Given the description of an element on the screen output the (x, y) to click on. 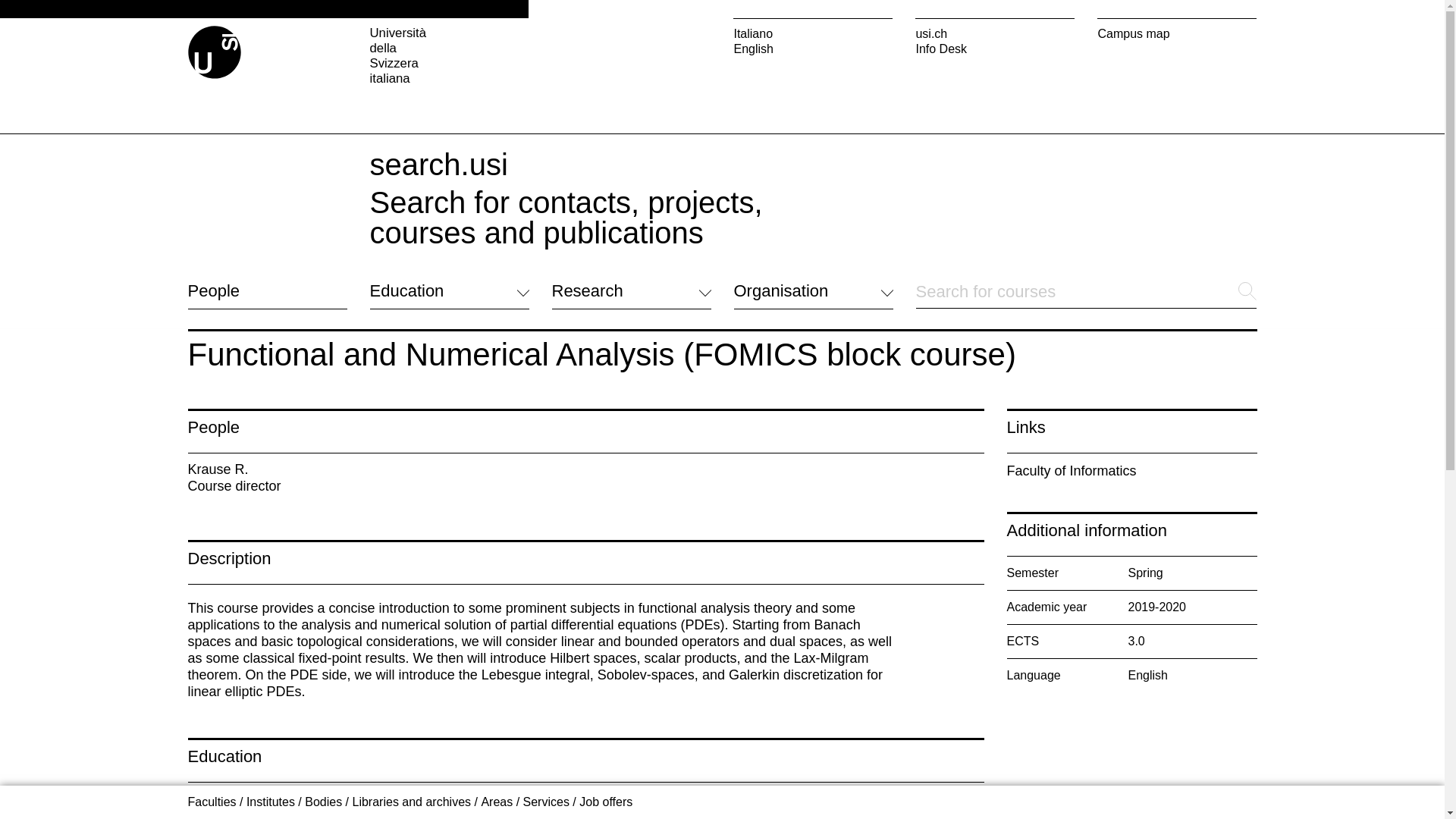
Newsletter (761, 667)
Italiano (812, 33)
Info Desk (994, 48)
Feedback on the website (255, 725)
Mendrisio Campus (601, 660)
usi.ch (994, 33)
Annual Report (771, 686)
Master of Science in Computational Science (336, 816)
Subscribe (760, 704)
Krause R. (217, 468)
